Given the description of an element on the screen output the (x, y) to click on. 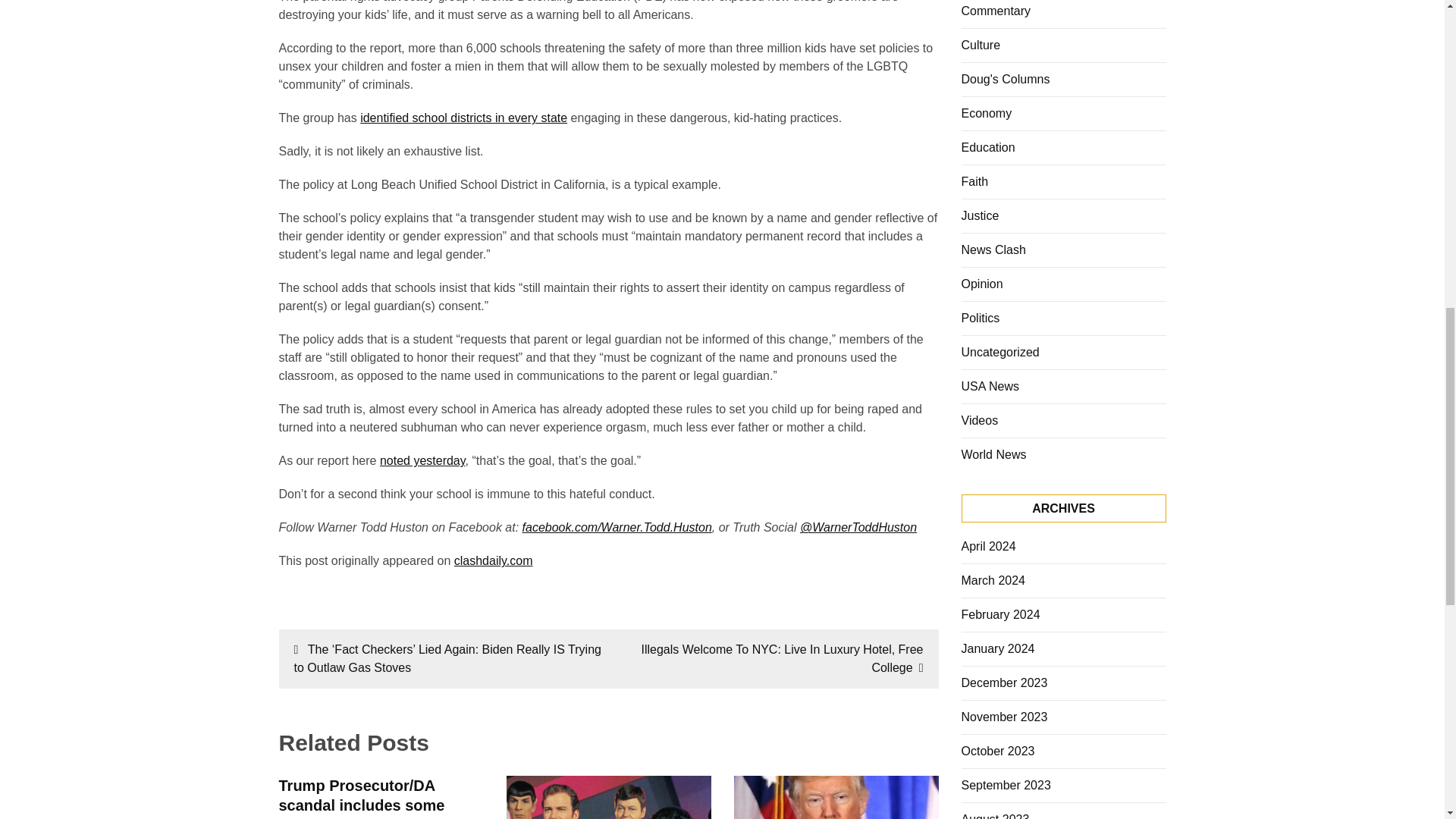
noted yesterday (422, 460)
identified school districts in every state (463, 117)
clashdaily.com (493, 560)
